Given the description of an element on the screen output the (x, y) to click on. 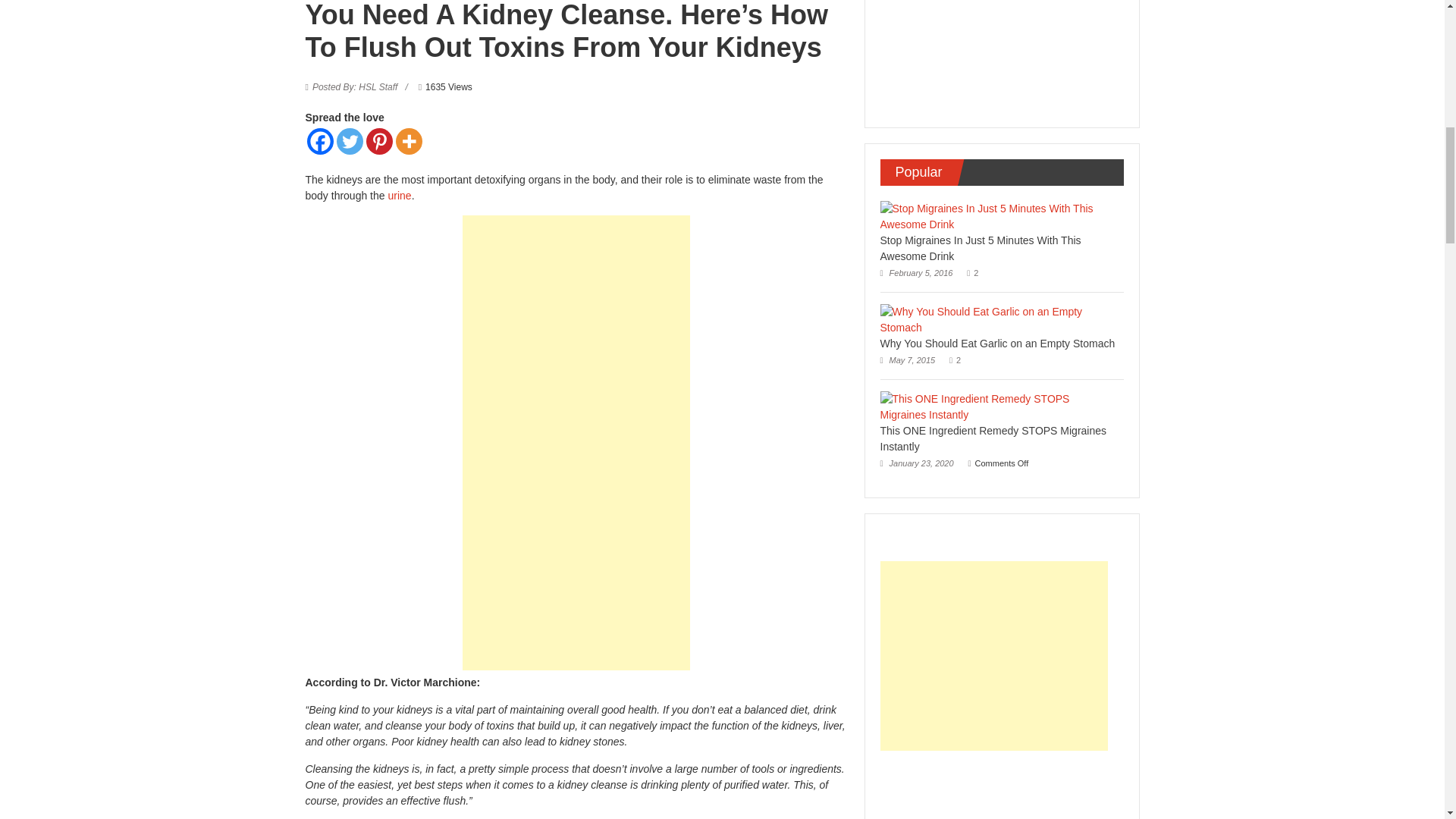
February 5, 2016 (915, 272)
More (409, 140)
Stop Migraines In Just 5 Minutes With This Awesome Drink (979, 248)
Facebook (319, 140)
urine (398, 195)
HSL Staff (355, 86)
Why You Should Eat Garlic on an Empty Stomach (997, 343)
Posted By: HSL Staff (355, 86)
Pinterest (378, 140)
Twitter (349, 140)
